Given the description of an element on the screen output the (x, y) to click on. 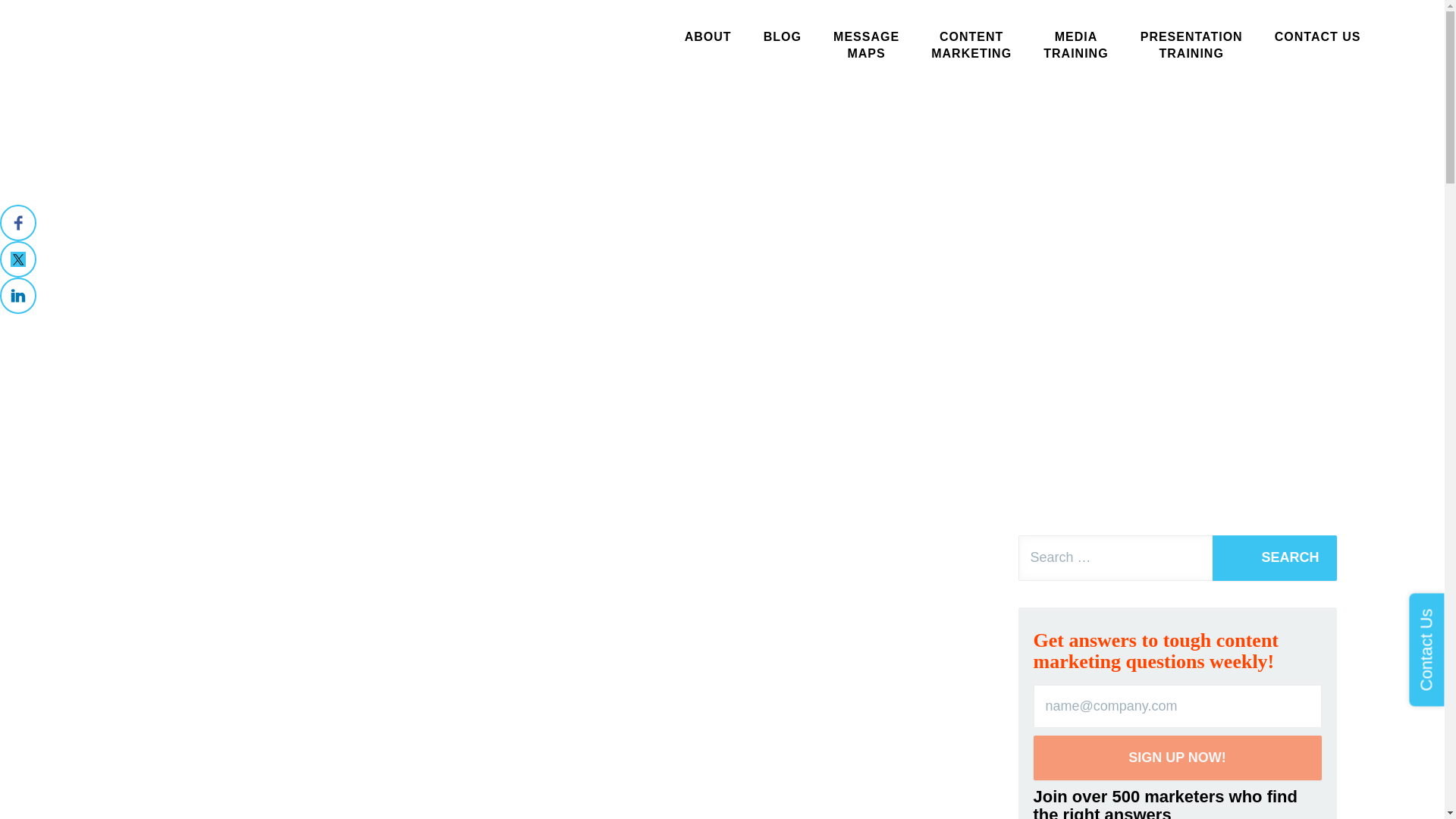
Search (865, 45)
Search (1273, 557)
ABOUT (971, 45)
click to join (1273, 557)
CONTACT US (708, 36)
Sign up now! (1176, 757)
BLOG (1075, 45)
Search (1191, 45)
